Given the description of an element on the screen output the (x, y) to click on. 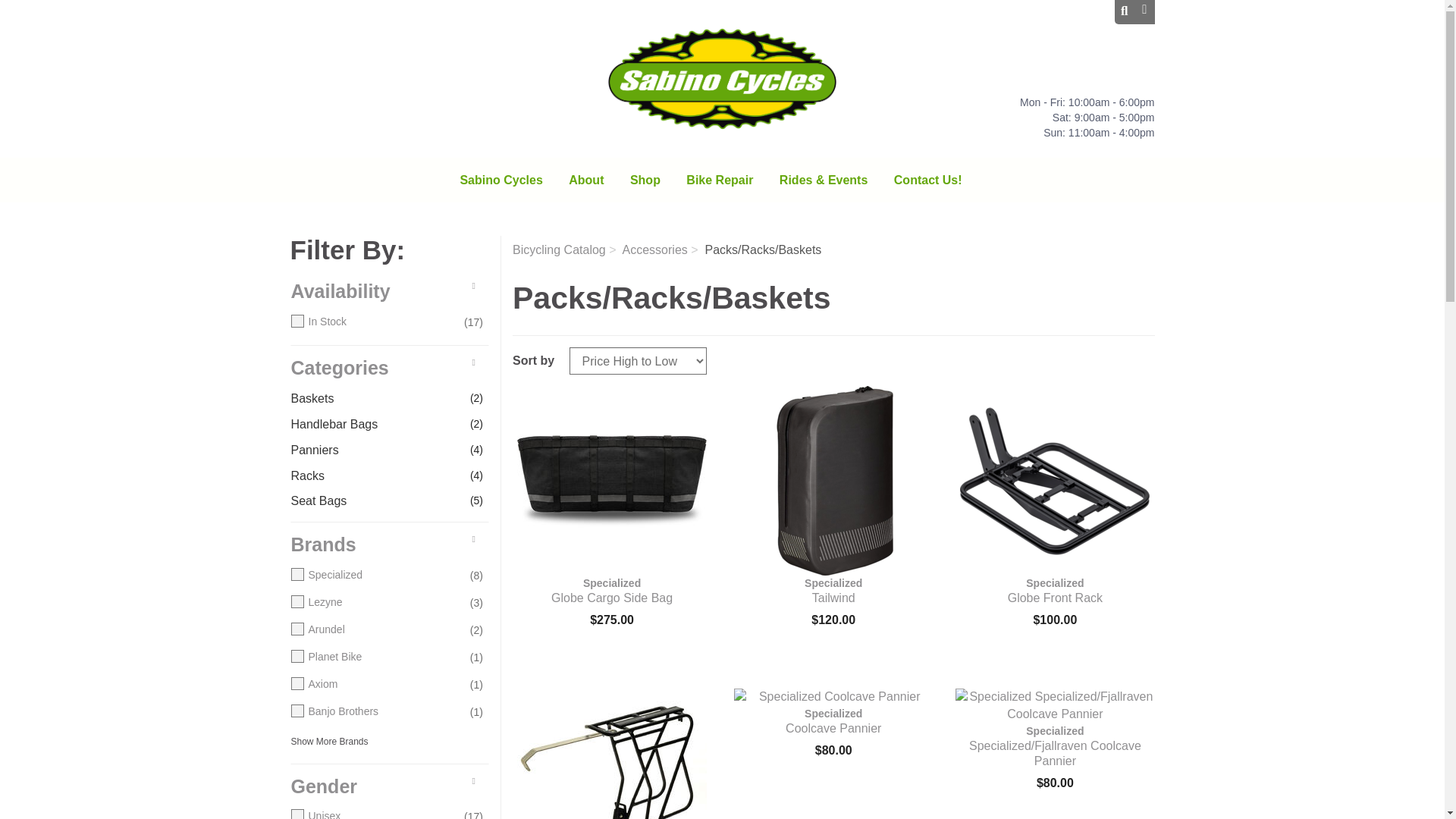
Sabino Cycles (500, 183)
Specialized Globe Cargo Side Bag (611, 590)
Specialized Globe Cargo Side Bag (611, 480)
Specialized Tailwind (833, 480)
Panniers (374, 450)
Seat Bags (374, 501)
Specialized Tailwind (833, 590)
Handlebar Bags (374, 425)
Sabino Cycles Home Page (722, 78)
Shop (644, 183)
Baskets (374, 398)
Racks (374, 476)
About (585, 183)
